Given the description of an element on the screen output the (x, y) to click on. 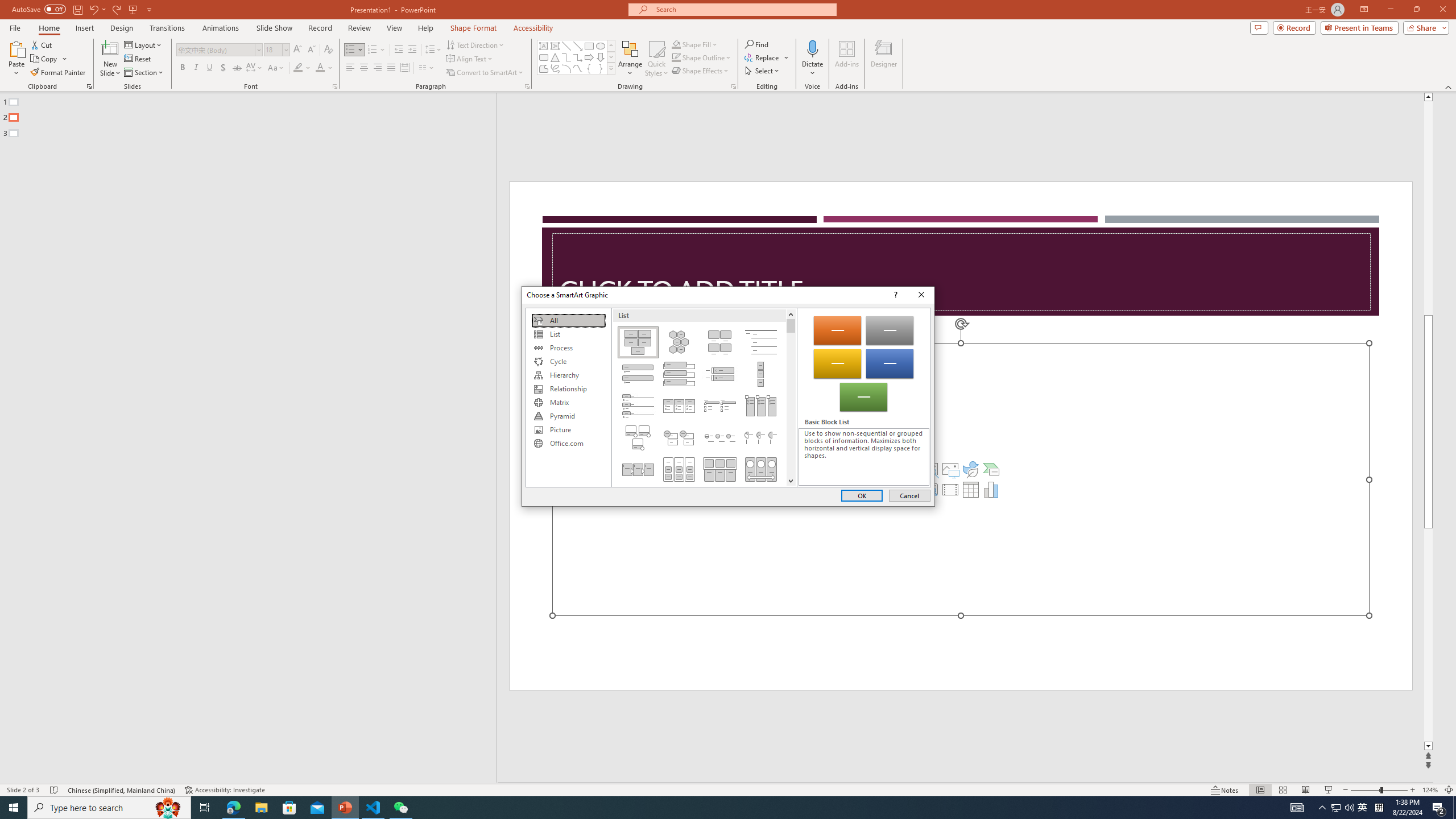
Pyramid (568, 416)
List (568, 334)
Cycle (568, 361)
